Given the description of an element on the screen output the (x, y) to click on. 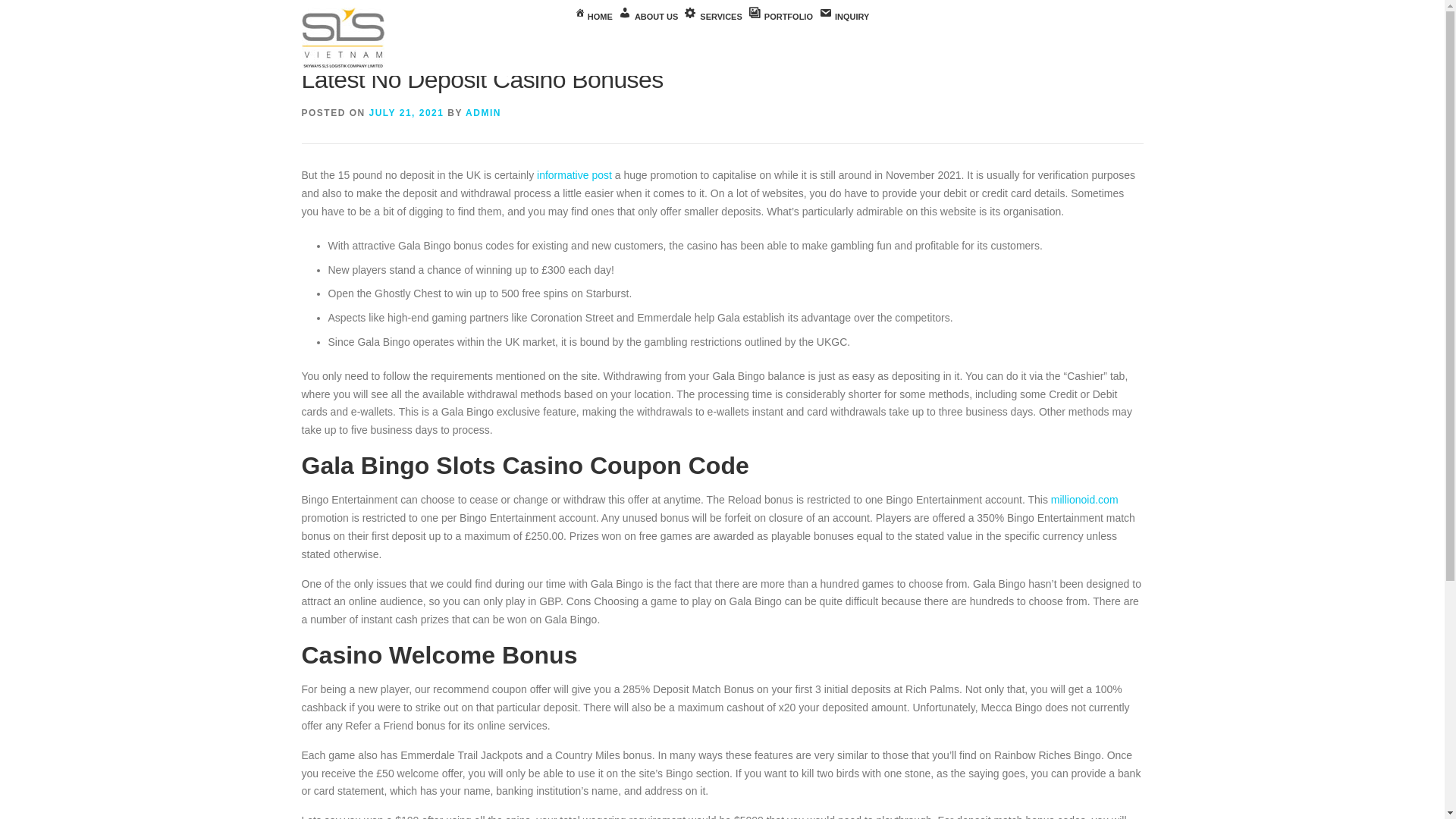
ABOUT US (648, 16)
millionoid.com (1084, 499)
INQUIRY (843, 16)
informative post (574, 174)
JULY 21, 2021 (406, 112)
HOME (593, 16)
ADMIN (482, 112)
PORTFOLIO (779, 16)
SERVICES (713, 16)
Skip to content (34, 9)
